Given the description of an element on the screen output the (x, y) to click on. 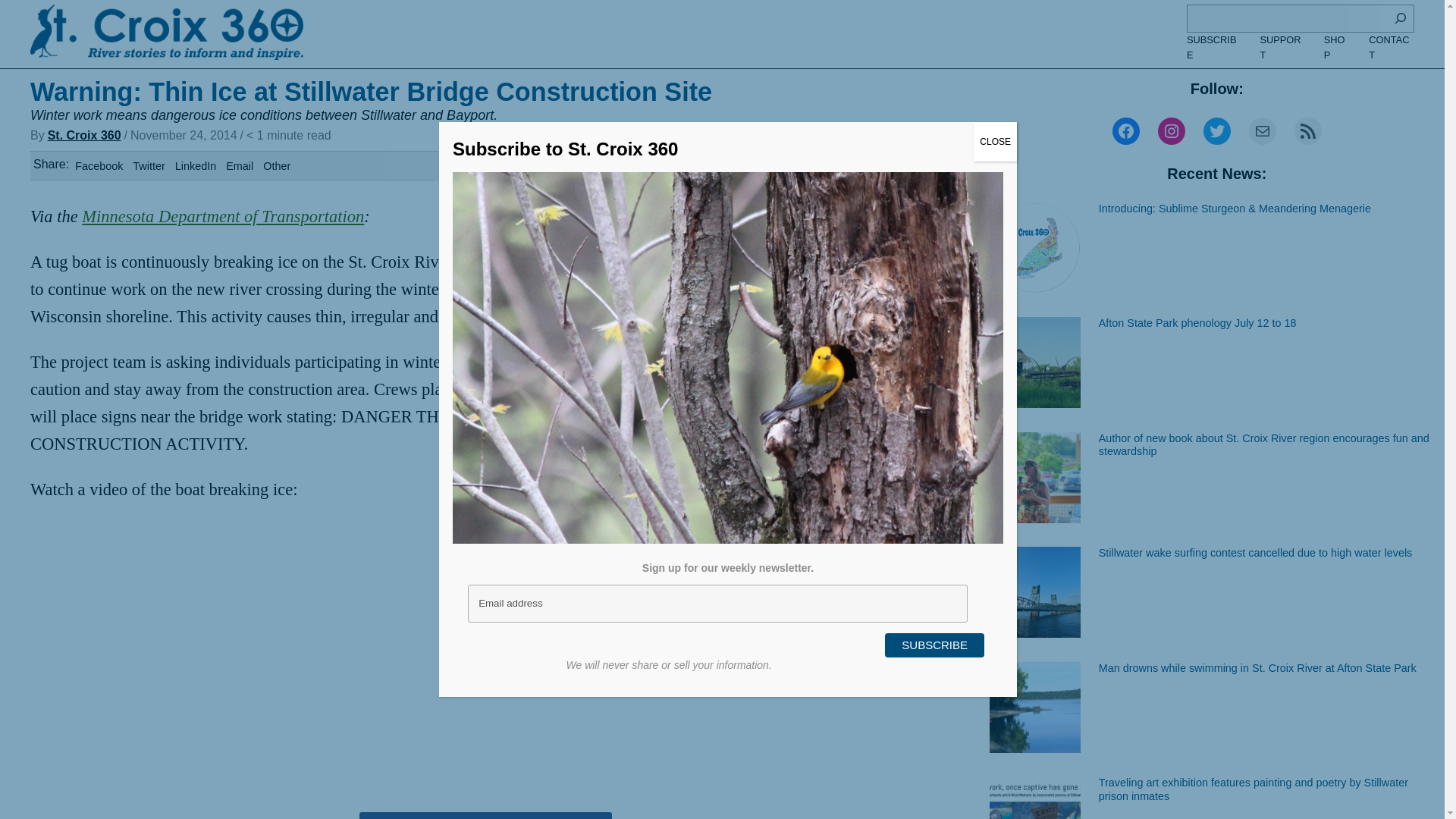
SUPPORT (1281, 47)
SHOP (1337, 47)
CONTACT (1390, 47)
Afton State Park phenology July 12 to 18 (1198, 323)
SUPPORT ST. CROIX 360 (485, 815)
RSS Feed (1308, 130)
Email (239, 165)
Facebook (1126, 130)
Twitter (148, 165)
Mail (1262, 130)
Email address (717, 603)
LinkedIn (194, 165)
Other (276, 165)
Instagram (1171, 130)
